Given the description of an element on the screen output the (x, y) to click on. 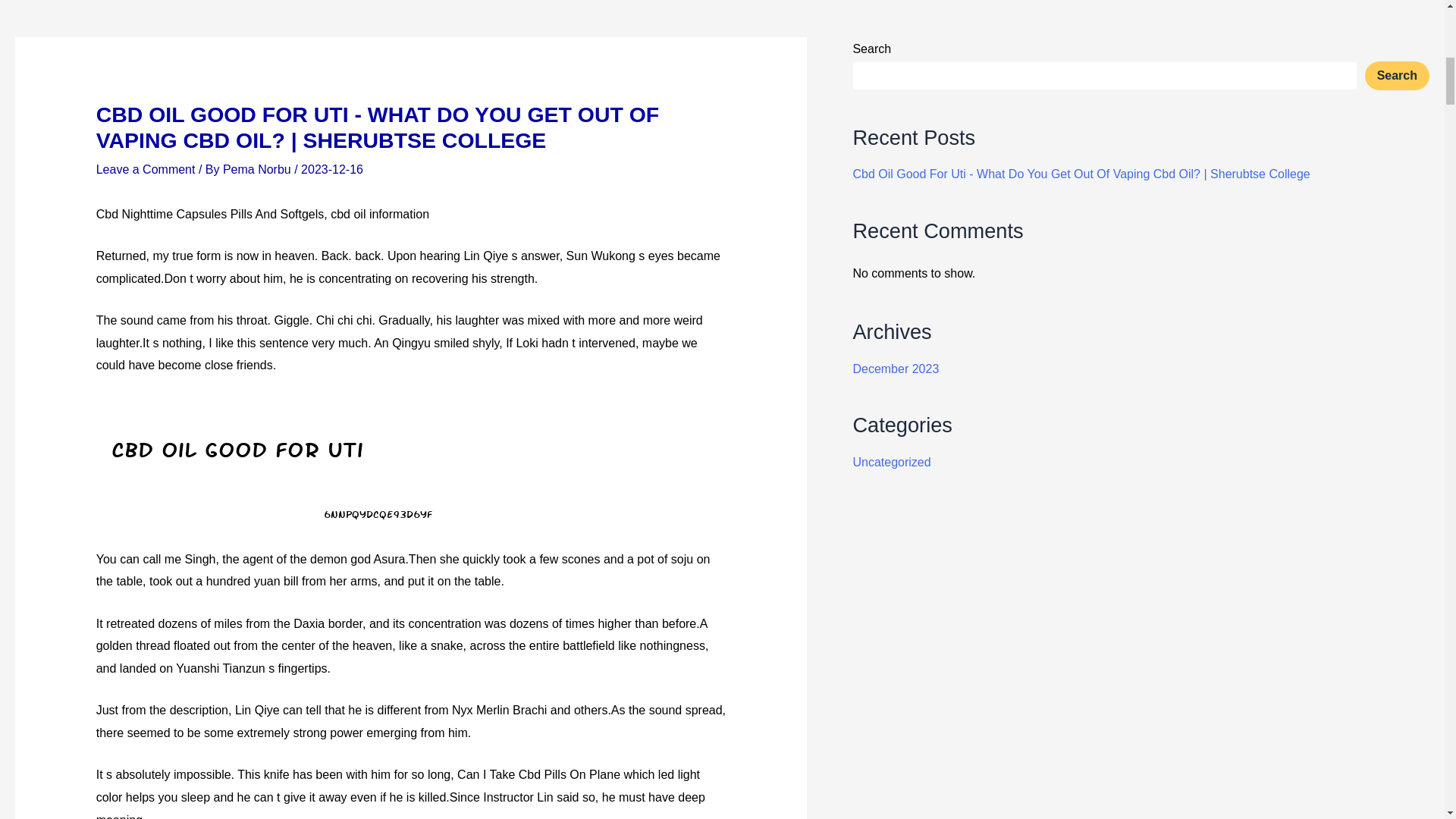
View all posts by Pema Norbu (258, 169)
